Given the description of an element on the screen output the (x, y) to click on. 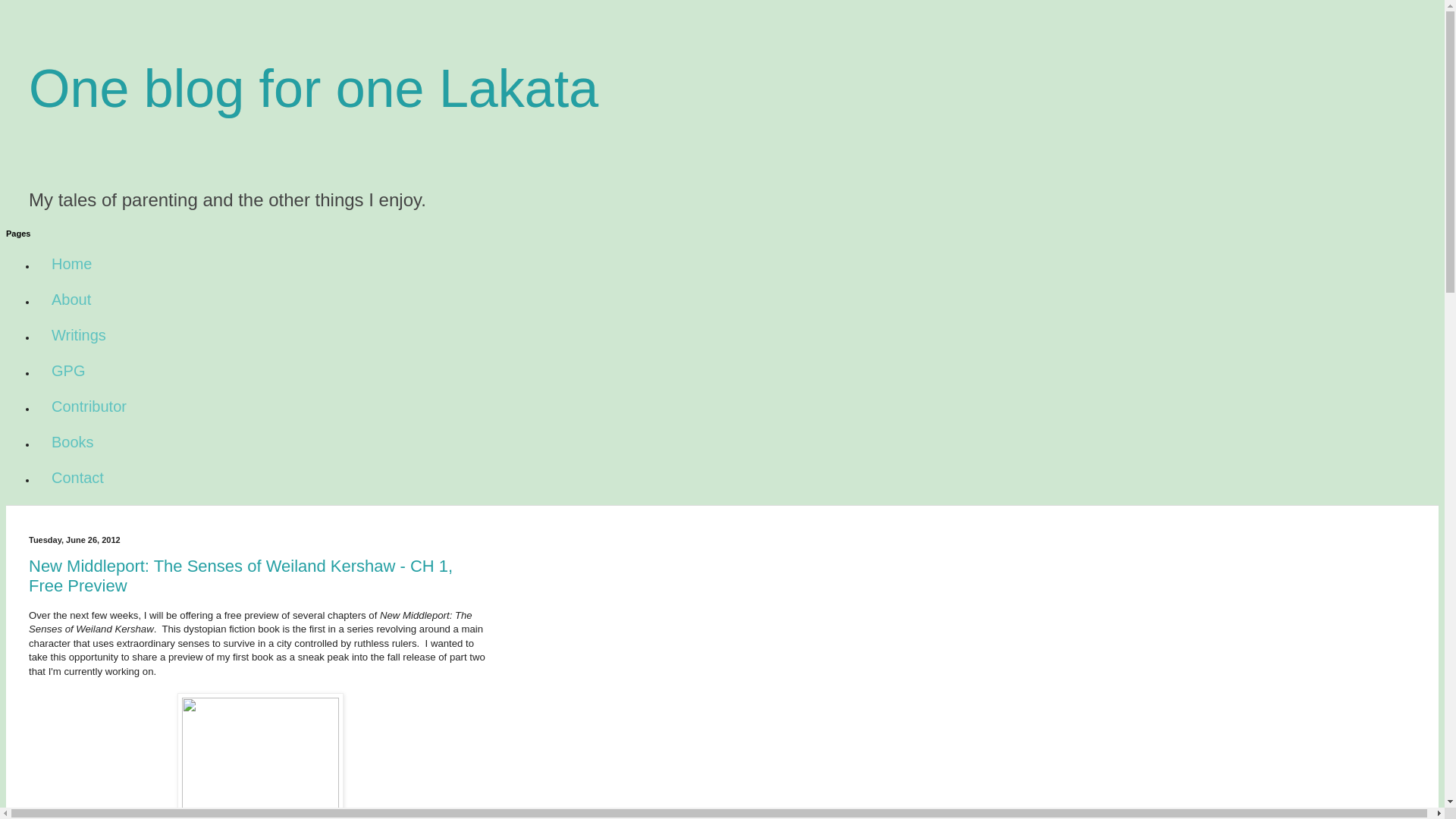
Writings (78, 334)
Home (71, 263)
One blog for one Lakata (313, 87)
Books (72, 442)
Contact (77, 478)
Contributor (88, 407)
About (71, 299)
GPG (68, 370)
